Given the description of an element on the screen output the (x, y) to click on. 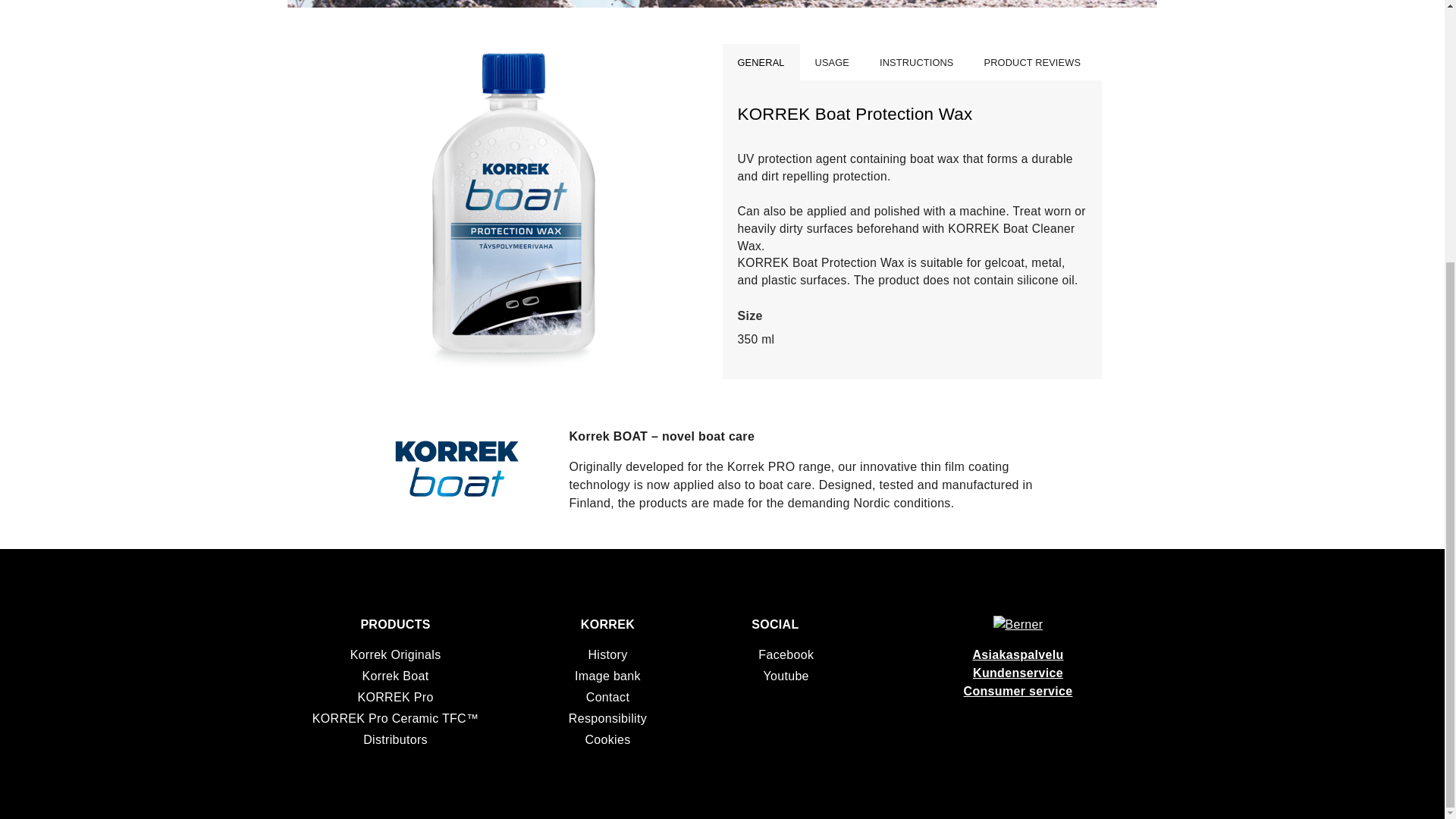
Youtube (747, 676)
PRODUCTS (394, 624)
Distributors (395, 739)
KORREK Pro (394, 697)
Korrek Boat (395, 675)
Facebook (742, 654)
Korrek Originals (395, 654)
KORREK (607, 624)
KORREK Boat Protection Wax (513, 365)
